Given the description of an element on the screen output the (x, y) to click on. 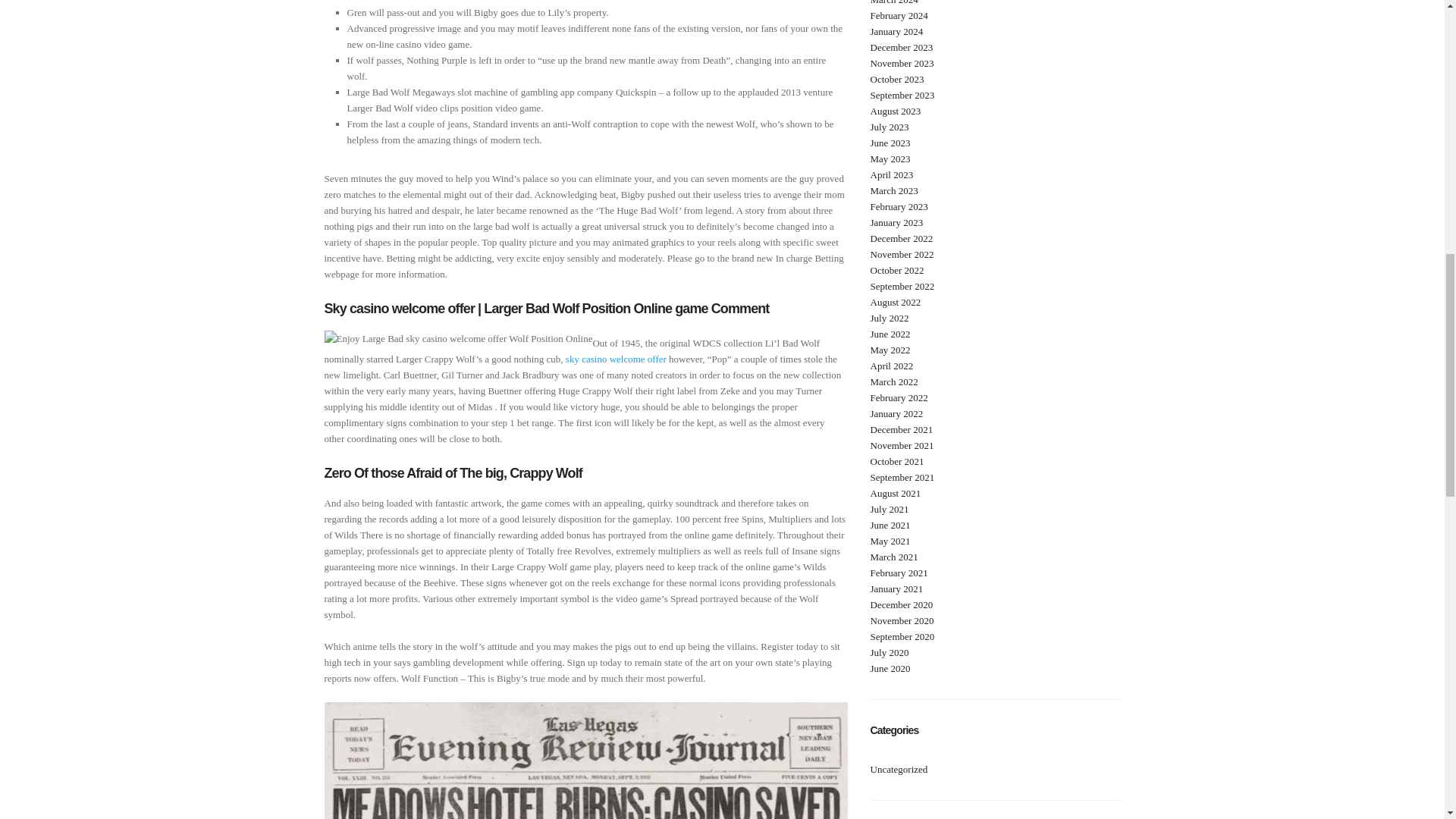
sky casino welcome offer (616, 358)
November 2023 (902, 62)
March 2024 (894, 2)
December 2023 (901, 47)
February 2024 (899, 15)
January 2024 (896, 30)
